Given the description of an element on the screen output the (x, y) to click on. 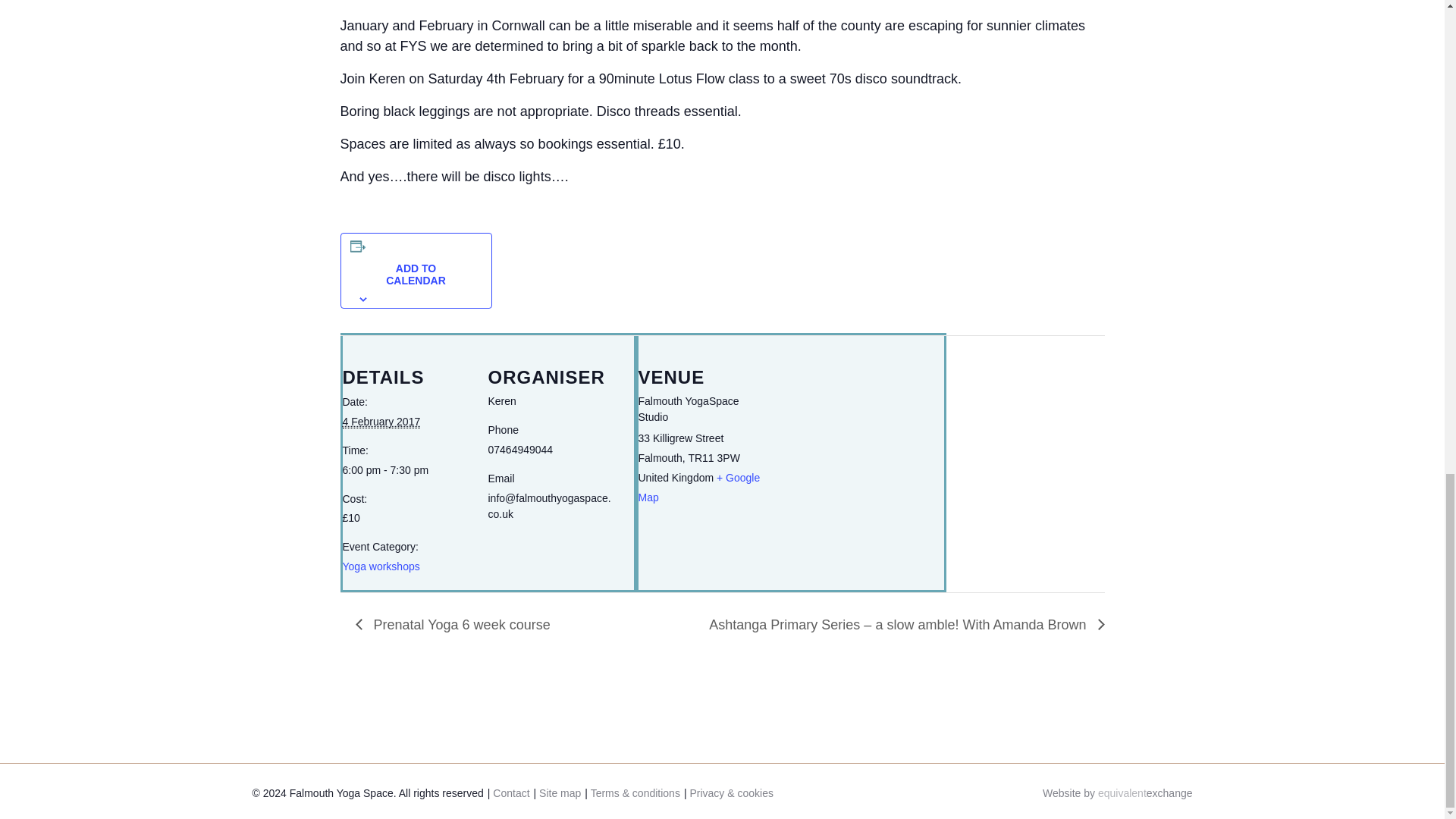
Prenatal Yoga 6 week course (456, 624)
2017-02-04 (381, 421)
ADD TO CALENDAR (415, 274)
Site map (559, 793)
Yoga workshops (381, 566)
Click to view a Google Map (699, 487)
awesome websites for awesome people (1117, 793)
Contact (511, 793)
Website by equivalentexchange (1117, 793)
2017-02-04 (406, 470)
